Given the description of an element on the screen output the (x, y) to click on. 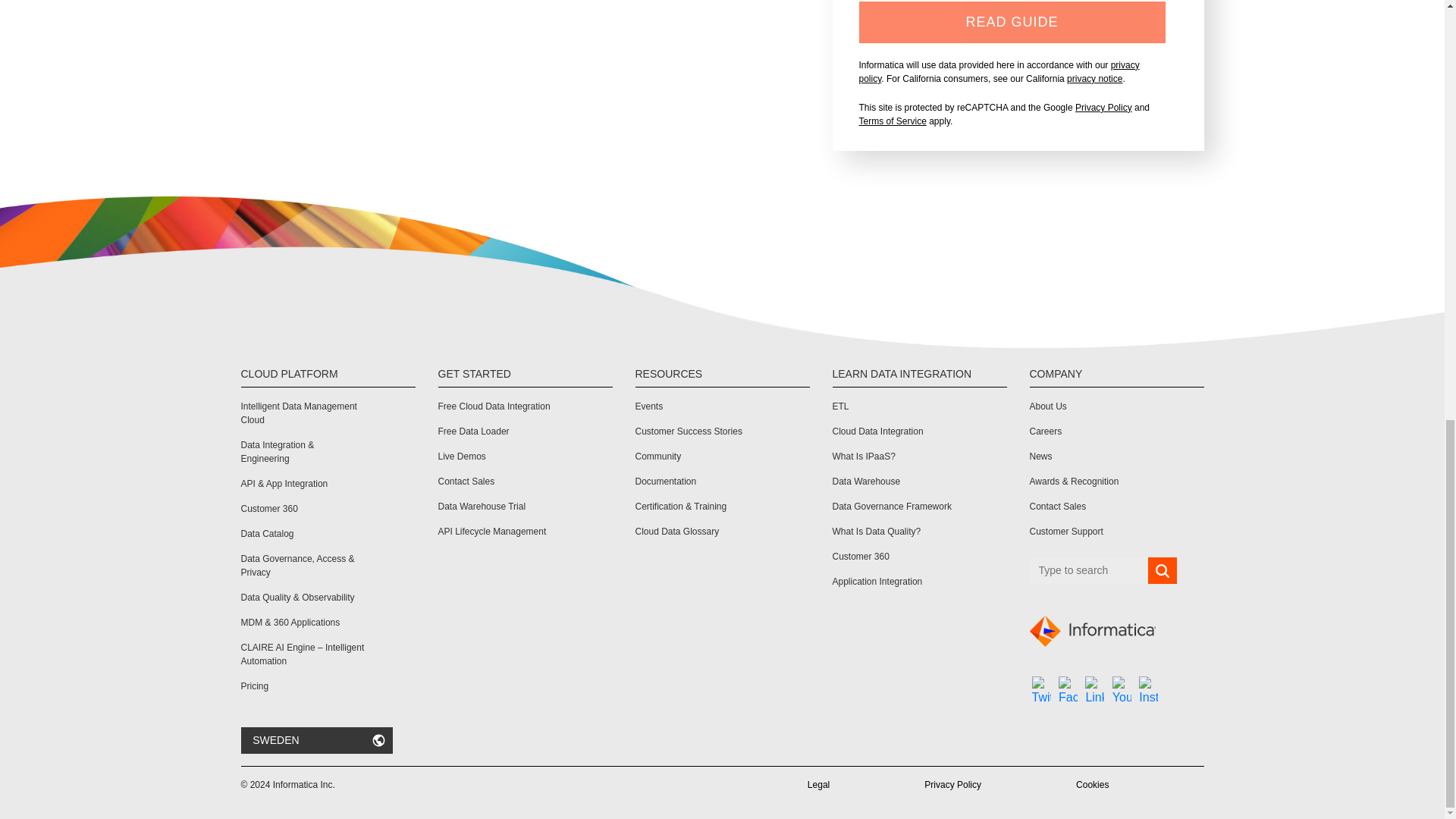
READ GUIDE (1011, 22)
Terms of Service (892, 121)
privacy notice (1094, 78)
Privacy Policy (1103, 107)
Insert a query. Press enter to send (1088, 570)
Search (1162, 571)
privacy policy (998, 71)
